Given the description of an element on the screen output the (x, y) to click on. 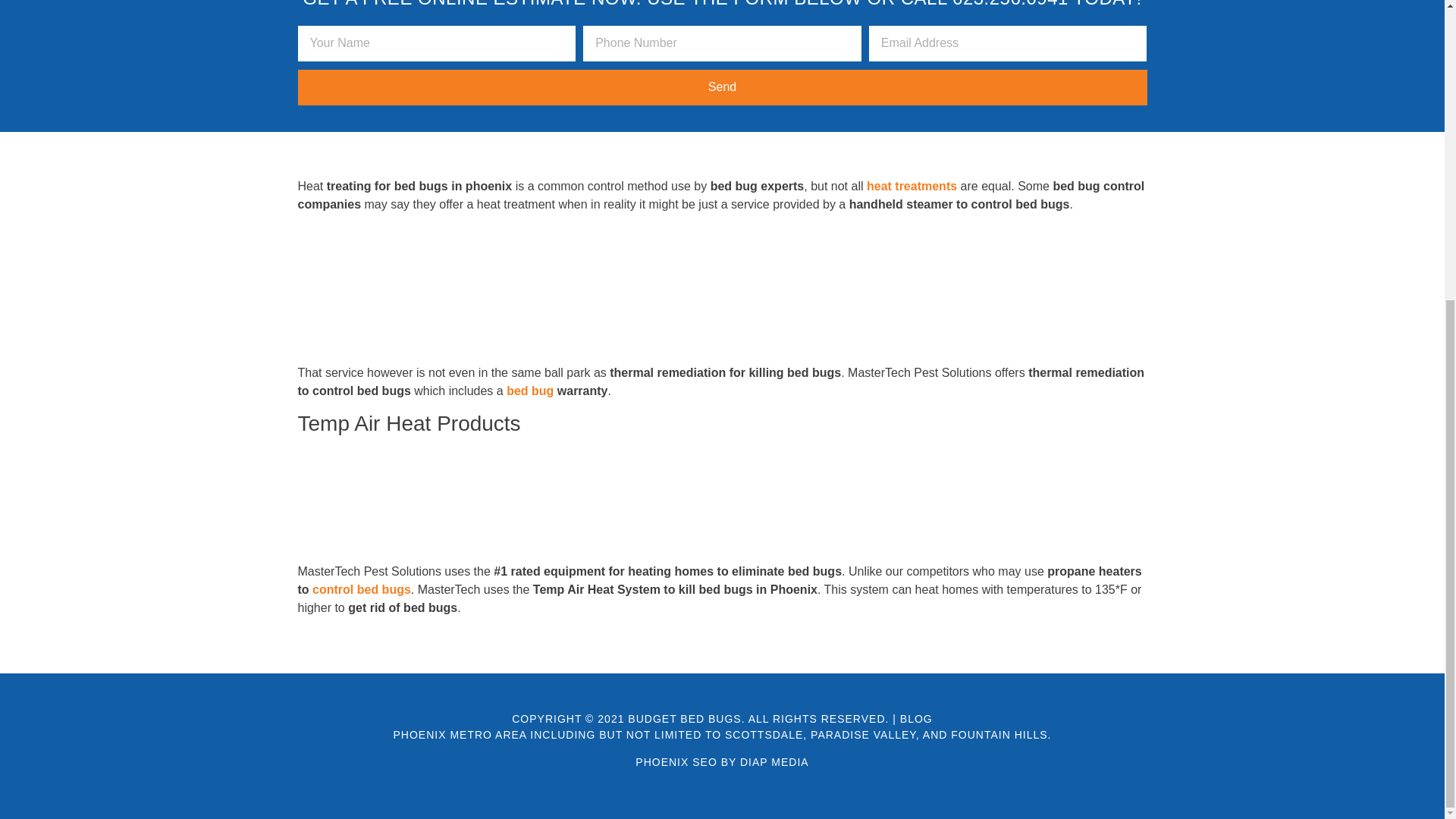
BLOG (916, 718)
bed bug (529, 390)
Send (722, 87)
heat treatments (911, 185)
control bed bugs (361, 589)
PHOENIX SEO BY DIAP MEDIA (721, 761)
